Given the description of an element on the screen output the (x, y) to click on. 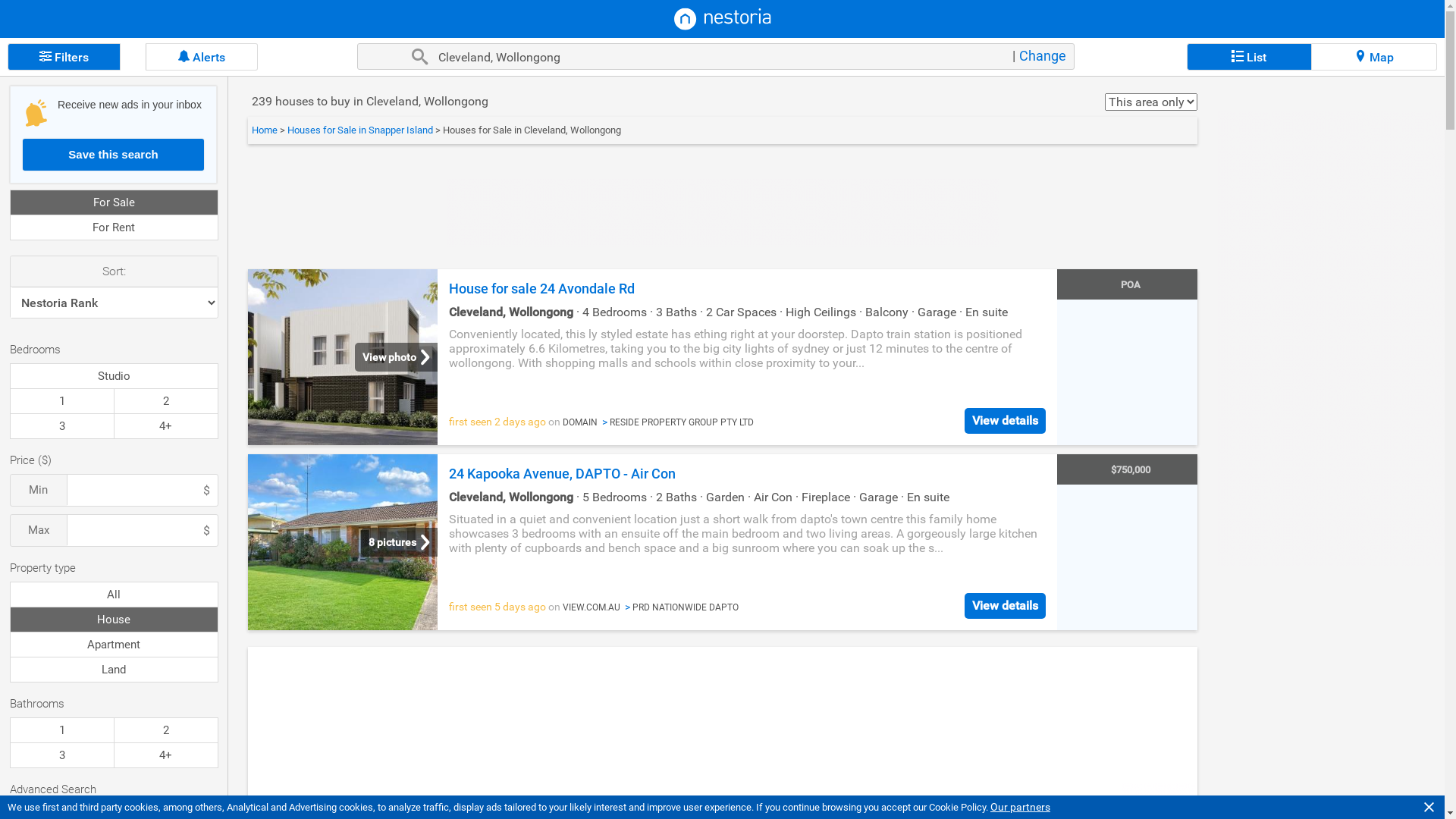
Houses for Sale in Snapper Island Element type: text (361, 129)
For Rent Element type: text (113, 227)
Filters Element type: text (63, 56)
List Element type: text (1248, 56)
3rd party ad content Element type: hover (1330, 337)
2 Element type: text (165, 401)
Map Element type: text (1374, 56)
24 Kapooka Avenue, DAPTO - Air Con Element type: hover (364, 542)
View details Element type: text (1004, 605)
Home Element type: text (265, 129)
Alerts Element type: text (201, 56)
View details Element type: text (1004, 420)
3rd party ad content Element type: hover (722, 212)
Our partners Element type: text (1020, 806)
House for sale 24 Avondale Rd Element type: hover (364, 357)
1 Element type: text (62, 401)
3 Element type: text (62, 426)
4+ Element type: text (165, 426)
